Given the description of an element on the screen output the (x, y) to click on. 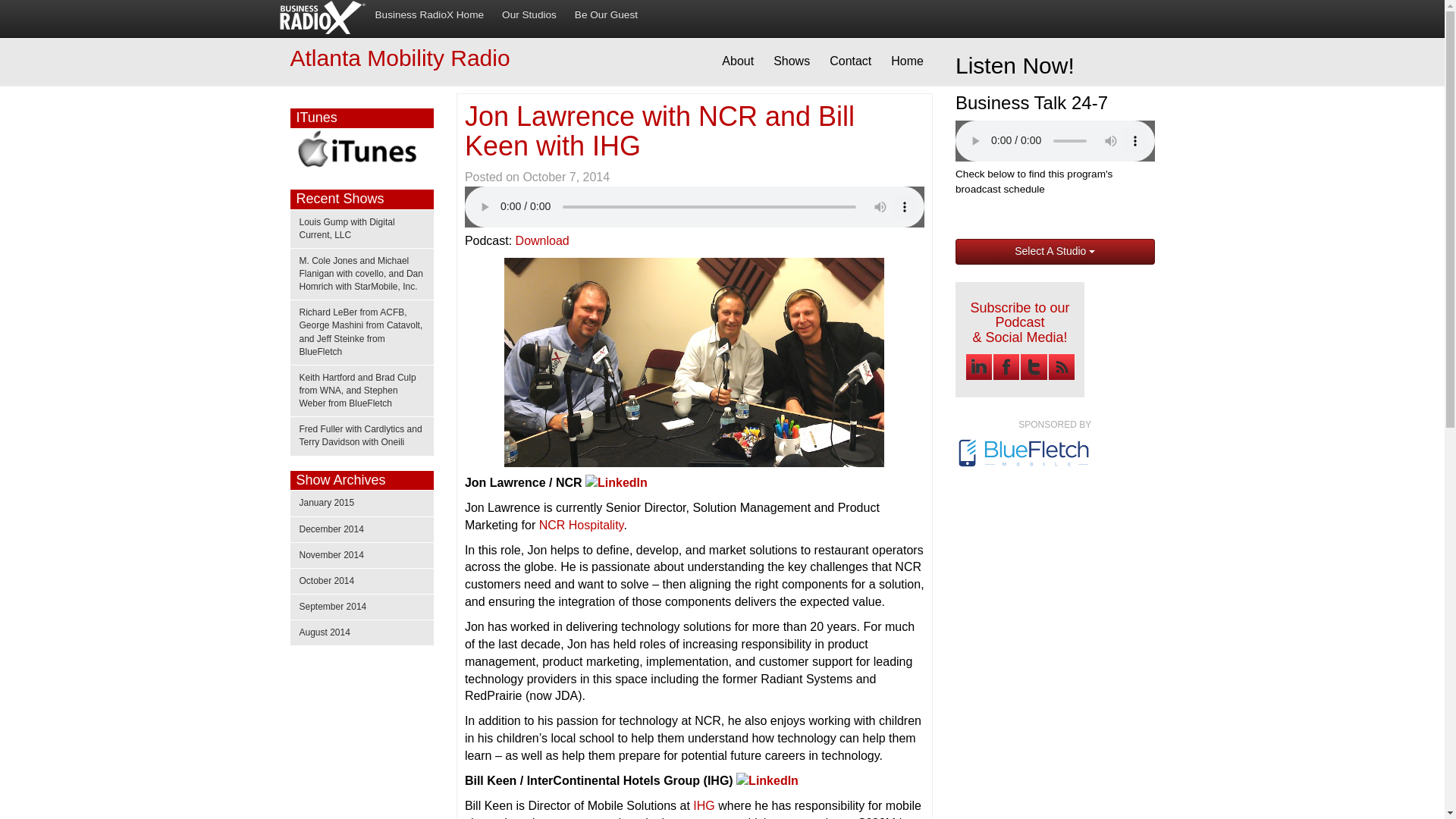
Be Our Guest (606, 15)
NCR Hospitality (581, 524)
Shows (791, 61)
Atlanta Mobility Radio (399, 57)
2:35 pm (566, 176)
Atlanta Mobility Radio (399, 57)
Select A Studio (1054, 251)
Home (907, 61)
Business RadioX Home (429, 15)
Contact (850, 61)
Our Studios (529, 15)
itunes-logo-2 (360, 150)
NCR (581, 524)
Download (542, 240)
Jon Lawrence with NCR and Bill Keen with IHG (659, 131)
